Given the description of an element on the screen output the (x, y) to click on. 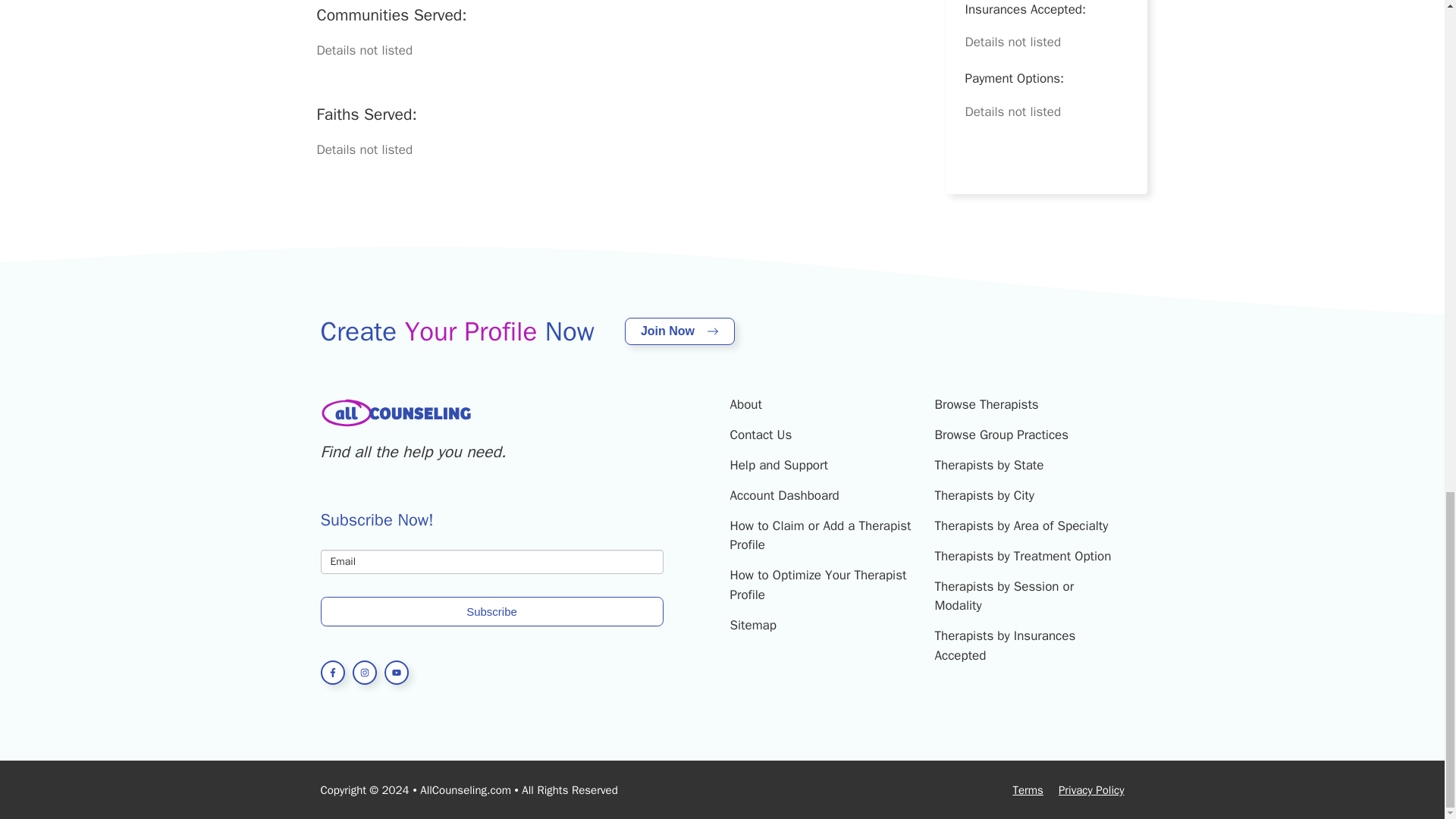
All Counseling (395, 413)
Join Now (679, 330)
